Given the description of an element on the screen output the (x, y) to click on. 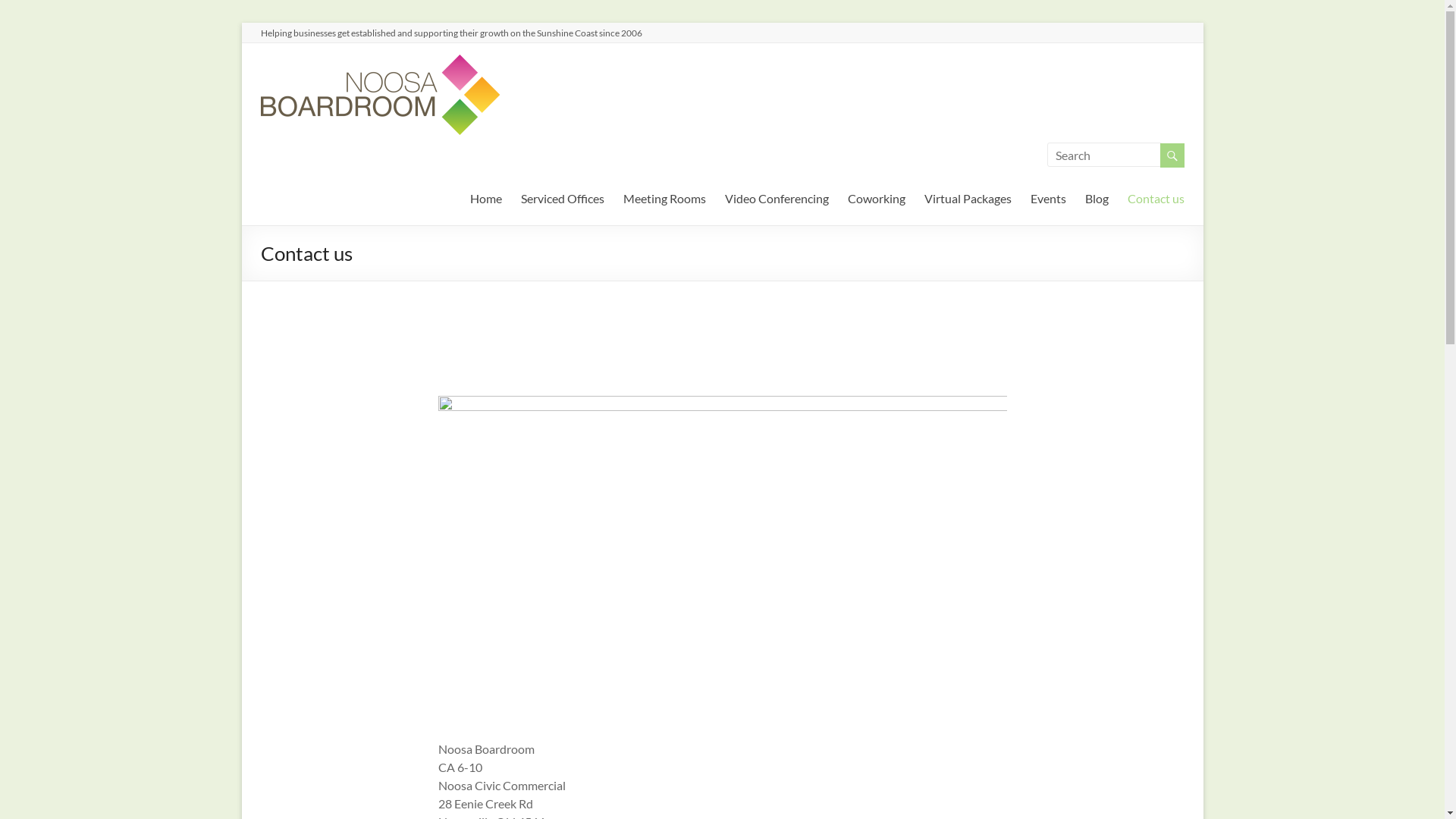
Events Element type: text (1047, 195)
Home Element type: text (486, 195)
Noosa Boardroom Element type: hover (379, 61)
Coworking Element type: text (876, 195)
Video Conferencing Element type: text (776, 195)
Noosa Boardroom Element type: text (623, 75)
Virtual Packages Element type: text (966, 195)
Contact us Element type: text (1154, 195)
Meeting Rooms Element type: text (664, 195)
Serviced Offices Element type: text (561, 195)
Blog Element type: text (1095, 195)
